Given the description of an element on the screen output the (x, y) to click on. 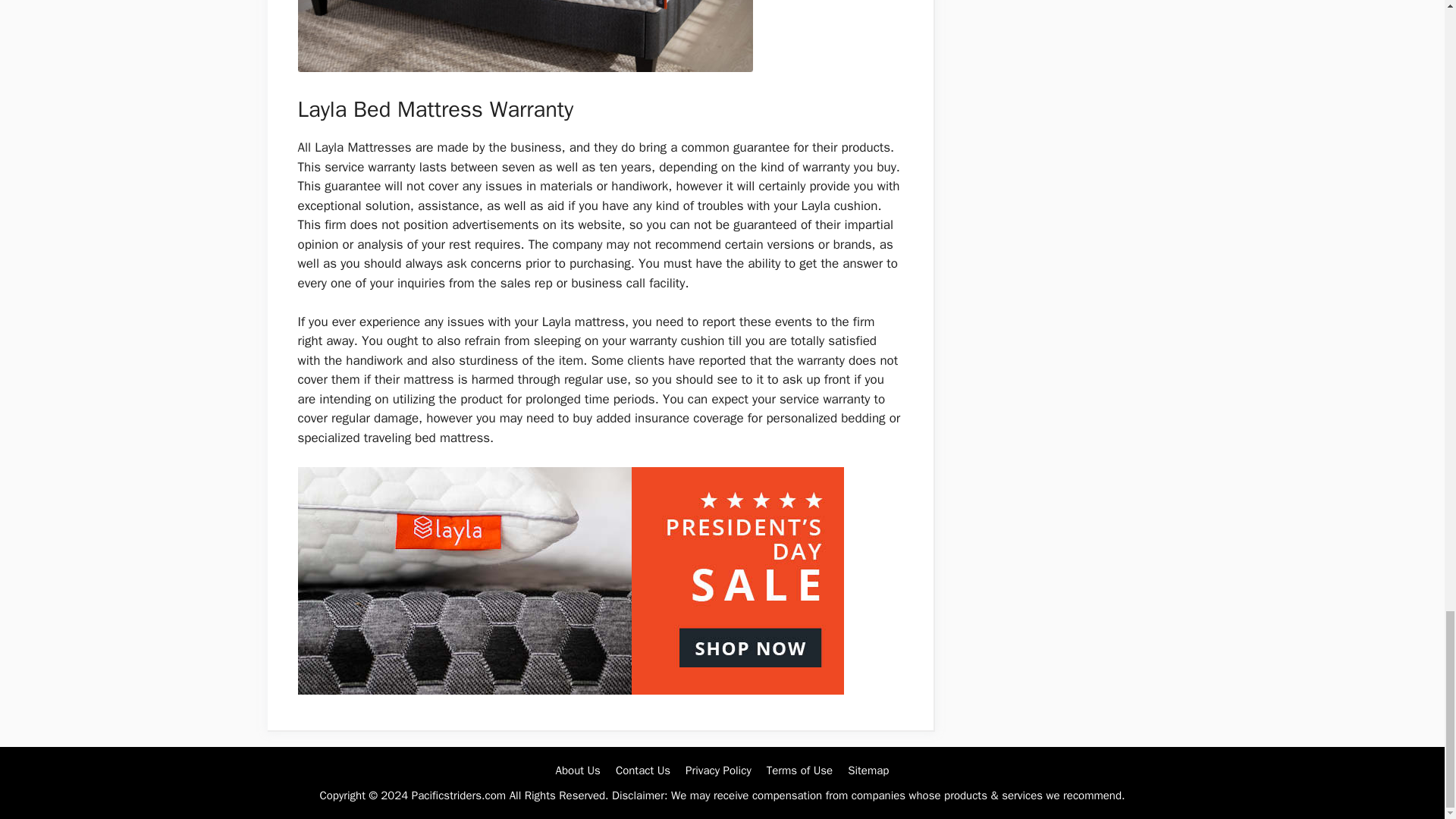
Privacy Policy (718, 770)
Contact Us (642, 770)
About Us (577, 770)
Sitemap (867, 770)
Terms of Use (799, 770)
